Given the description of an element on the screen output the (x, y) to click on. 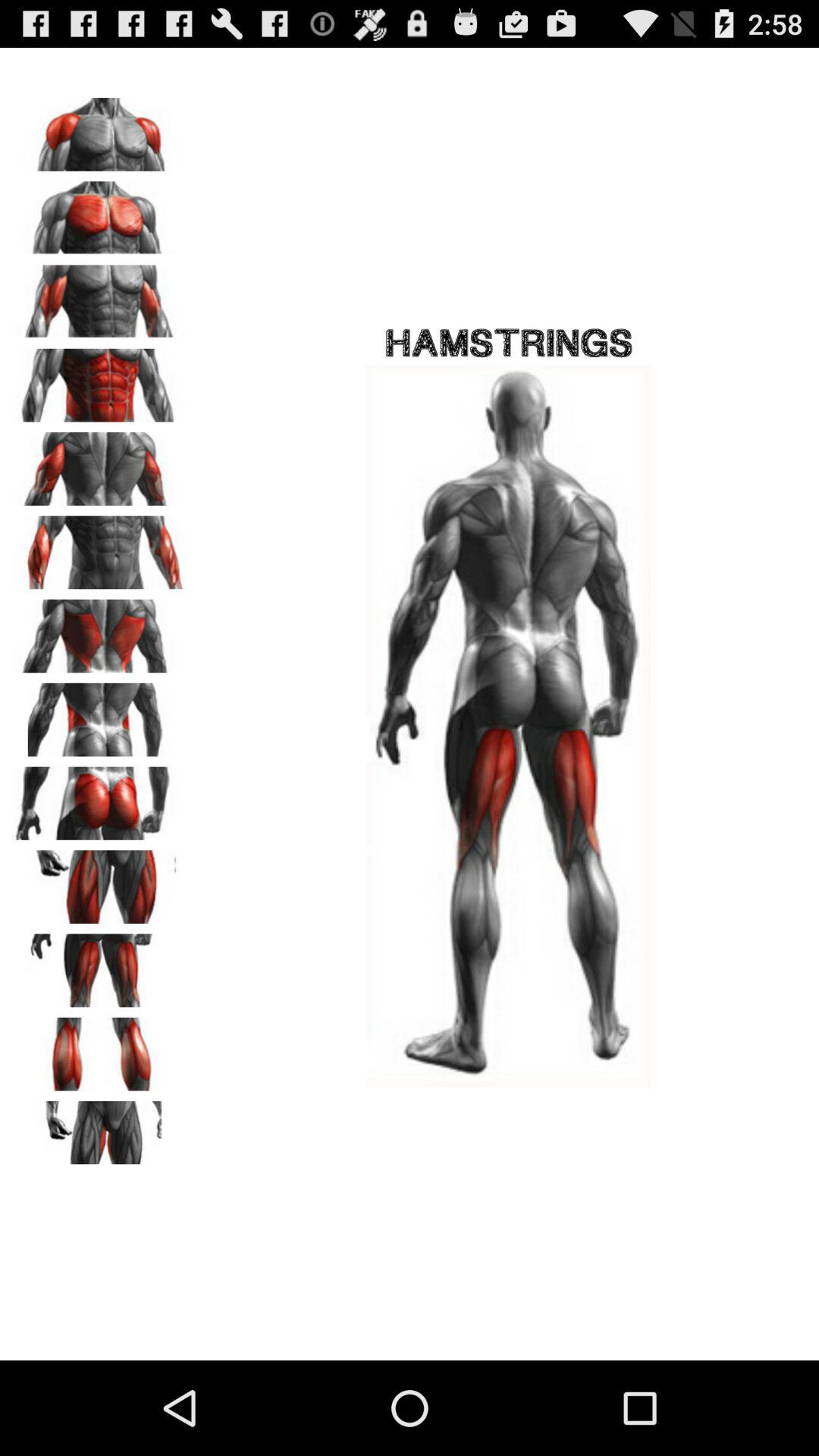
highlight muscle area (99, 1048)
